Given the description of an element on the screen output the (x, y) to click on. 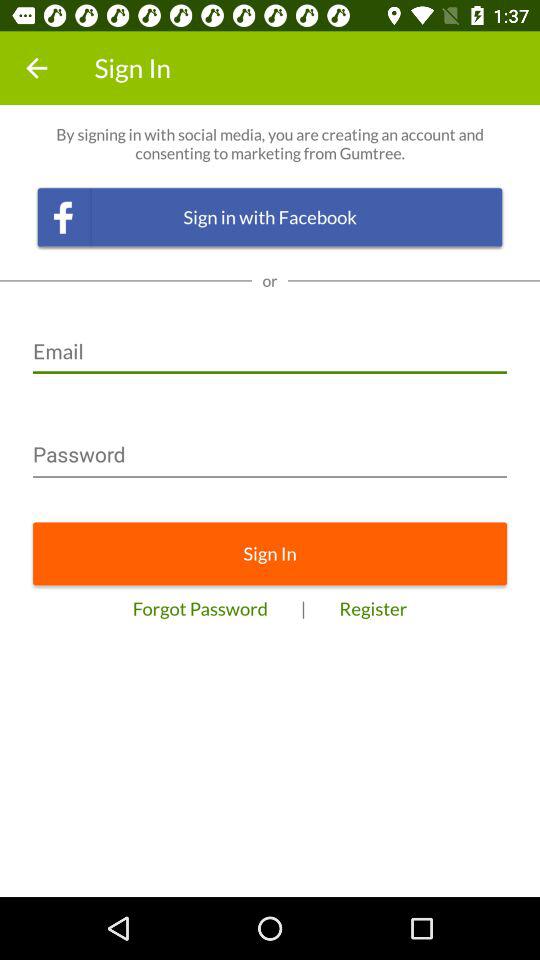
open the icon next to the | (373, 608)
